Given the description of an element on the screen output the (x, y) to click on. 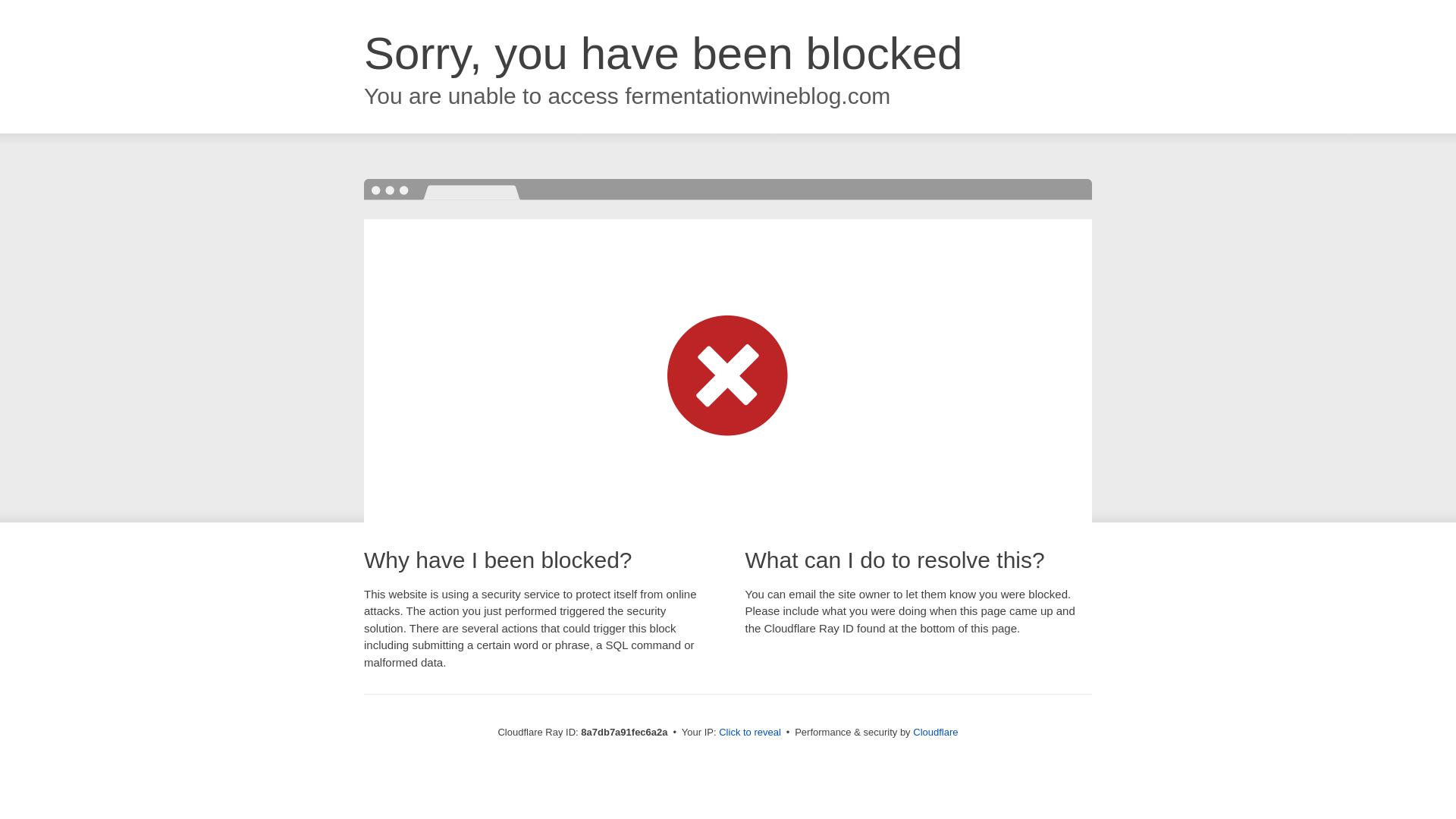
Click to reveal (749, 732)
Cloudflare (935, 731)
